Given the description of an element on the screen output the (x, y) to click on. 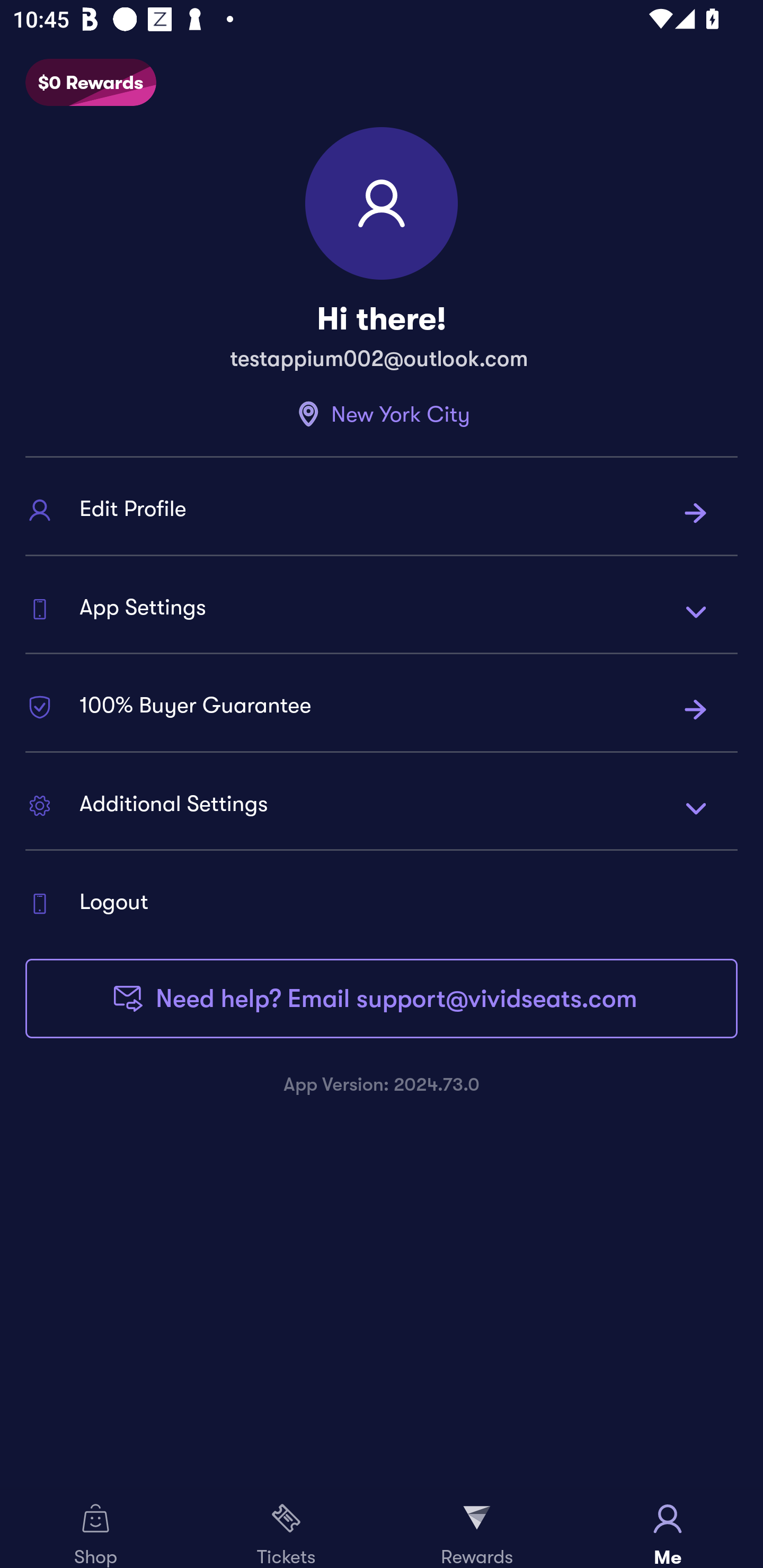
$0 Rewards (90, 82)
New York City (381, 413)
Edit Profile (381, 512)
App Settings  (381, 610)
100% Buyer Guarantee (381, 708)
Additional Settings  (381, 807)
Logout (381, 902)
Need help? Email support@vividseats.com (381, 997)
App Version: 2024.73.0 (381, 1083)
Shop (95, 1529)
Tickets (285, 1529)
Rewards (476, 1529)
Me (667, 1529)
